Given the description of an element on the screen output the (x, y) to click on. 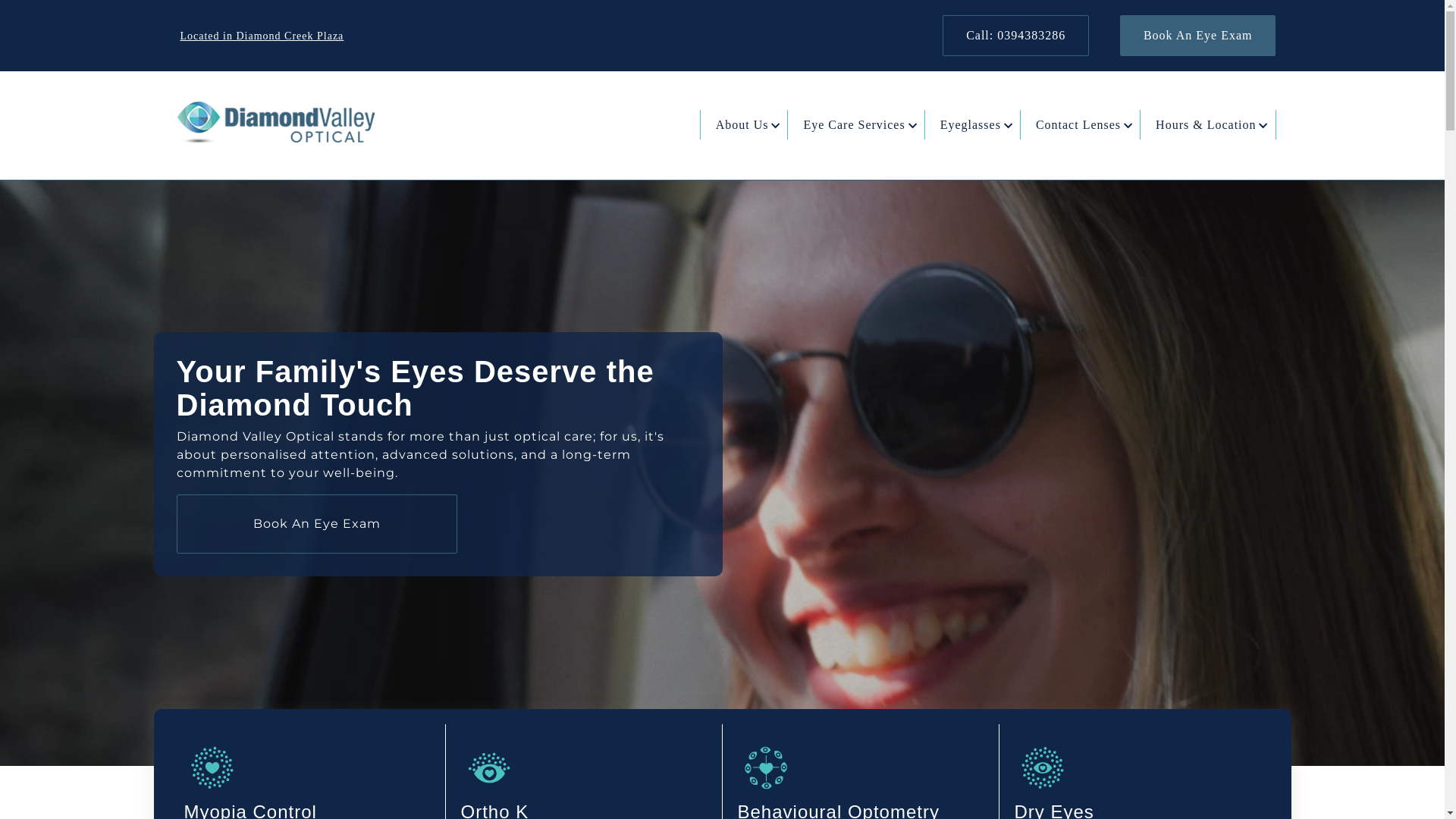
Contact Lenses Element type: text (1079, 124)
Book An Eye Exam Element type: text (1198, 35)
Eye Care Services Element type: text (855, 124)
Located in Diamond Creek Plaza Element type: text (262, 35)
Call: 0394383286 Element type: text (1015, 35)
About Us Element type: text (743, 124)
Hours & Location Element type: text (1207, 124)
Eyeglasses Element type: text (972, 124)
Book An Eye Exam Element type: text (315, 523)
